Given the description of an element on the screen output the (x, y) to click on. 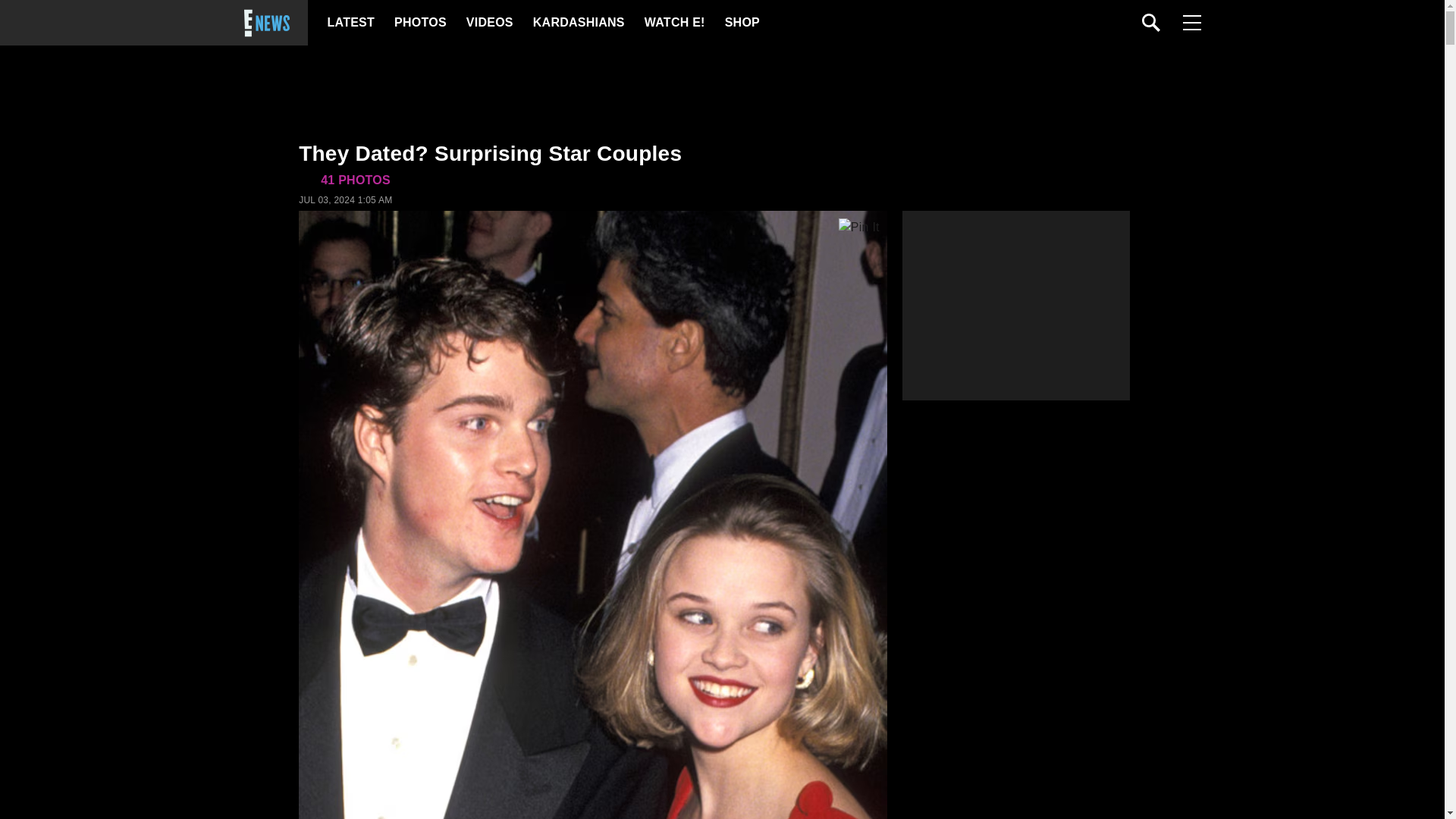
KARDASHIANS (577, 22)
PHOTOS (419, 22)
WATCH E! (673, 22)
LATEST (350, 22)
VIDEOS (488, 22)
SHOP (741, 22)
